Given the description of an element on the screen output the (x, y) to click on. 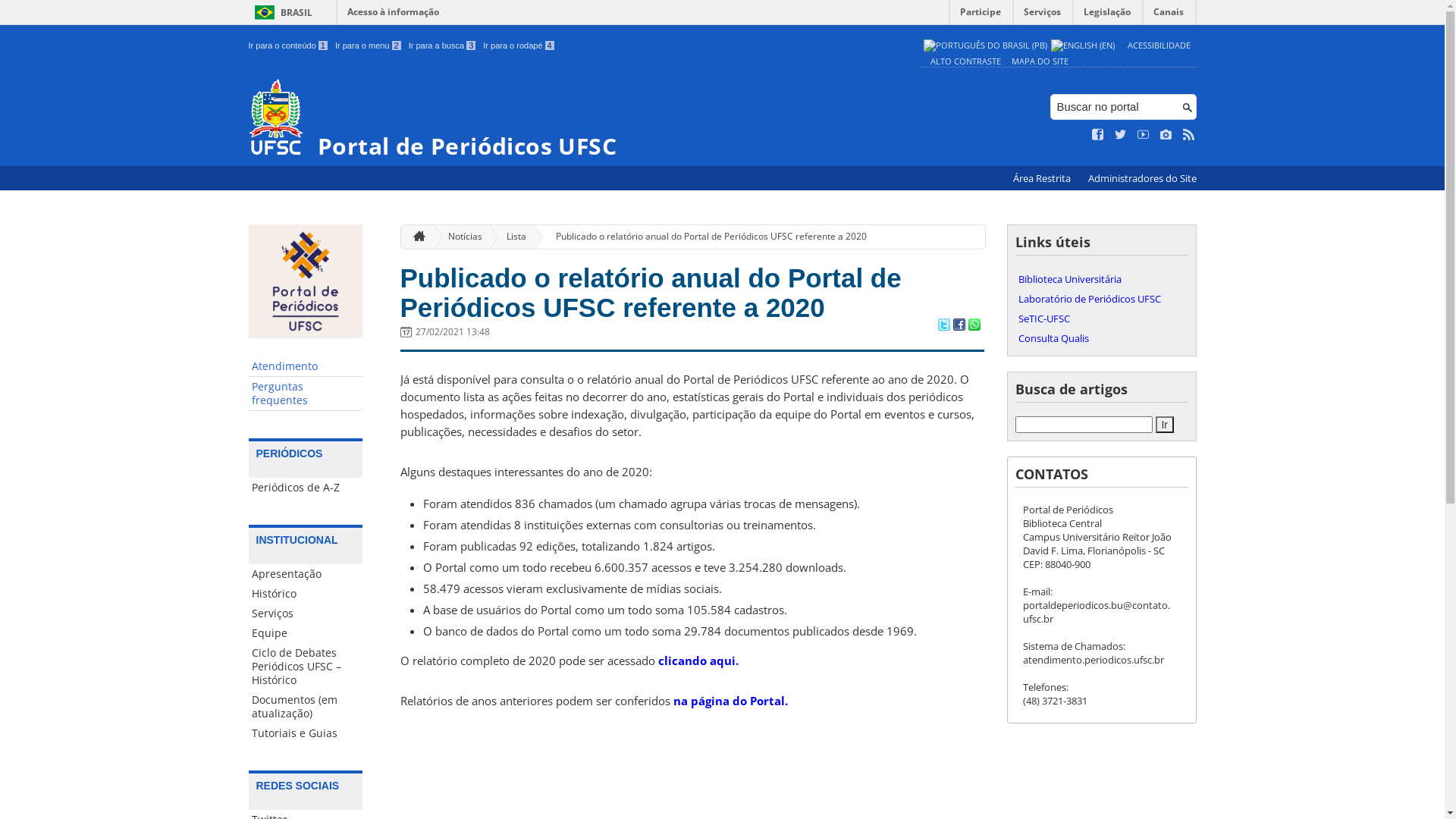
Compartilhar no Twitter Element type: hover (943, 325)
SeTIC-UFSC Element type: text (1100, 318)
Lista Element type: text (510, 236)
BRASIL Element type: text (280, 12)
Siga no Twitter Element type: hover (1120, 134)
Equipe Element type: text (305, 633)
Compartilhar no Facebook Element type: hover (958, 325)
Atendimento Element type: text (305, 366)
Veja no Instagram Element type: hover (1166, 134)
clicando aqui. Element type: text (698, 660)
Tutoriais e Guias Element type: text (305, 733)
Curta no Facebook Element type: hover (1098, 134)
Perguntas frequentes Element type: text (305, 393)
ACESSIBILIDADE Element type: text (1158, 44)
ALTO CONTRASTE Element type: text (964, 60)
Ir para a busca 3 Element type: text (442, 45)
Administradores do Site Element type: text (1141, 178)
English (en) Element type: hover (1082, 44)
Ir Element type: text (1164, 424)
Compartilhar no WhatsApp Element type: hover (973, 325)
Consulta Qualis Element type: text (1100, 338)
MAPA DO SITE Element type: text (1039, 60)
Participe Element type: text (980, 15)
Ir para o menu 2 Element type: text (368, 45)
Canais Element type: text (1169, 15)
